Given the description of an element on the screen output the (x, y) to click on. 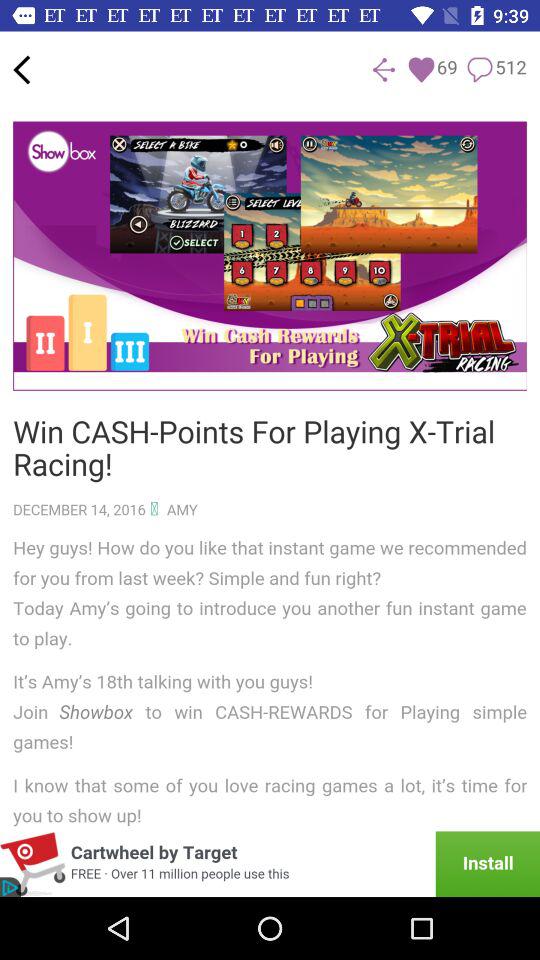
open advertisement (270, 864)
